Given the description of an element on the screen output the (x, y) to click on. 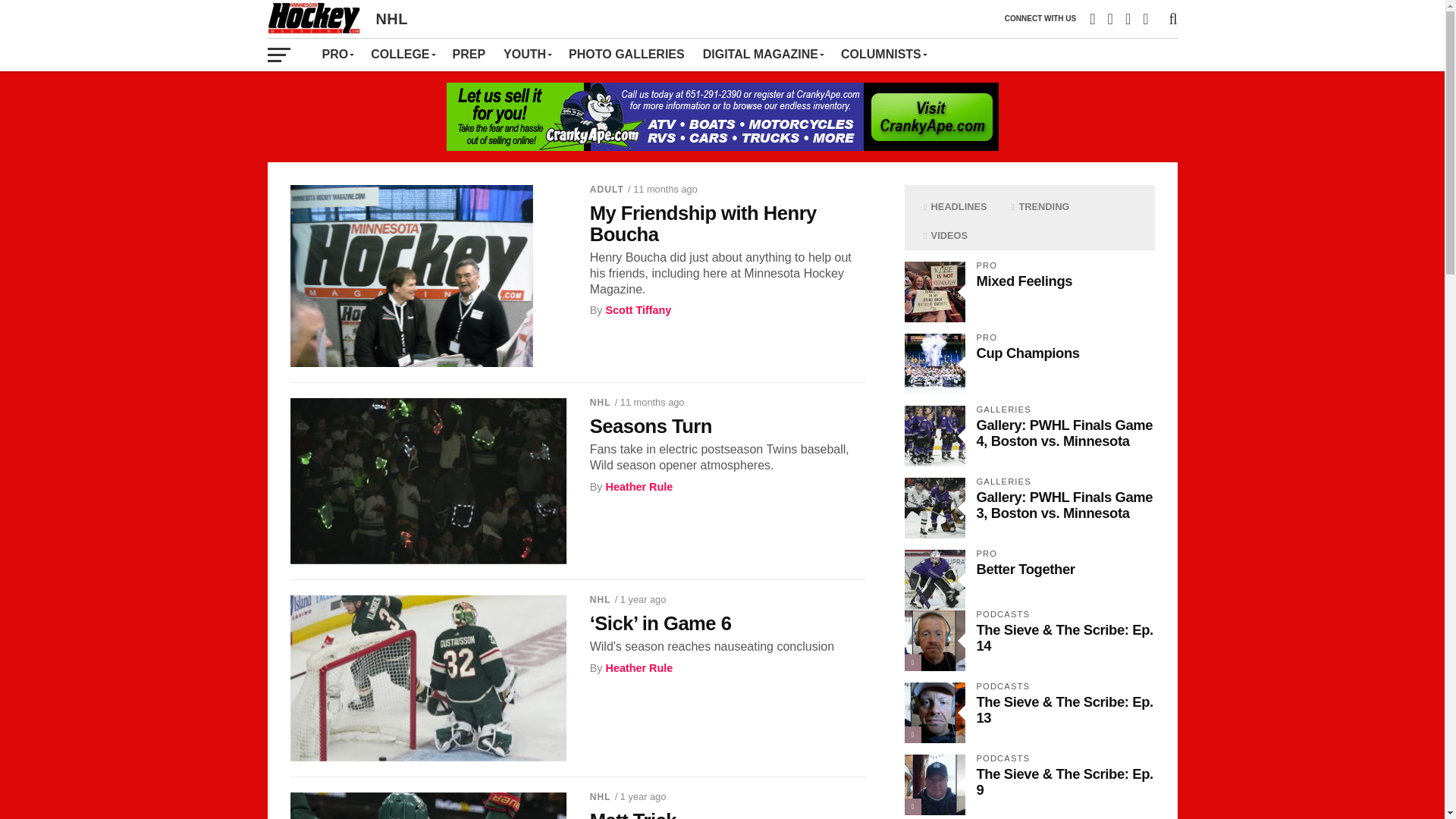
YOUTH (527, 54)
Posts by Scott Tiffany (638, 309)
PREP (469, 54)
COLLEGE (401, 54)
Posts by Heather Rule (638, 486)
PRO (337, 54)
Posts by Heather Rule (638, 667)
